Given the description of an element on the screen output the (x, y) to click on. 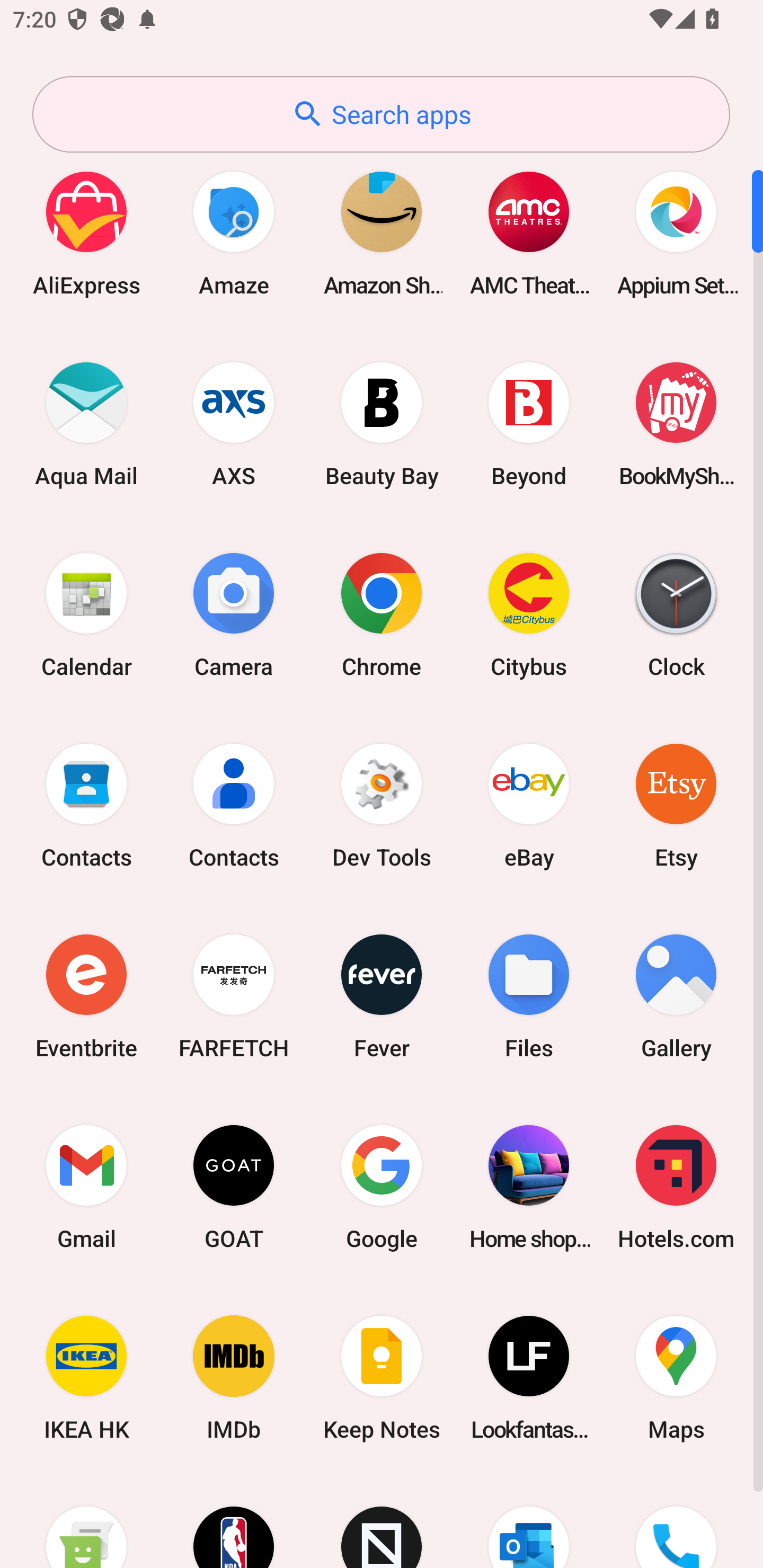
  Search apps (381, 114)
AliExpress (86, 233)
Amaze (233, 233)
Amazon Shopping (381, 233)
AMC Theatres (528, 233)
Appium Settings (676, 233)
Aqua Mail (86, 424)
AXS (233, 424)
Beauty Bay (381, 424)
Beyond (528, 424)
BookMyShow (676, 424)
Calendar (86, 614)
Camera (233, 614)
Chrome (381, 614)
Citybus (528, 614)
Clock (676, 614)
Contacts (86, 805)
Contacts (233, 805)
Dev Tools (381, 805)
eBay (528, 805)
Etsy (676, 805)
Eventbrite (86, 996)
FARFETCH (233, 996)
Fever (381, 996)
Files (528, 996)
Gallery (676, 996)
Gmail (86, 1186)
GOAT (233, 1186)
Google (381, 1186)
Home shopping (528, 1186)
Hotels.com (676, 1186)
IKEA HK (86, 1377)
IMDb (233, 1377)
Keep Notes (381, 1377)
Lookfantastic (528, 1377)
Maps (676, 1377)
